Given the description of an element on the screen output the (x, y) to click on. 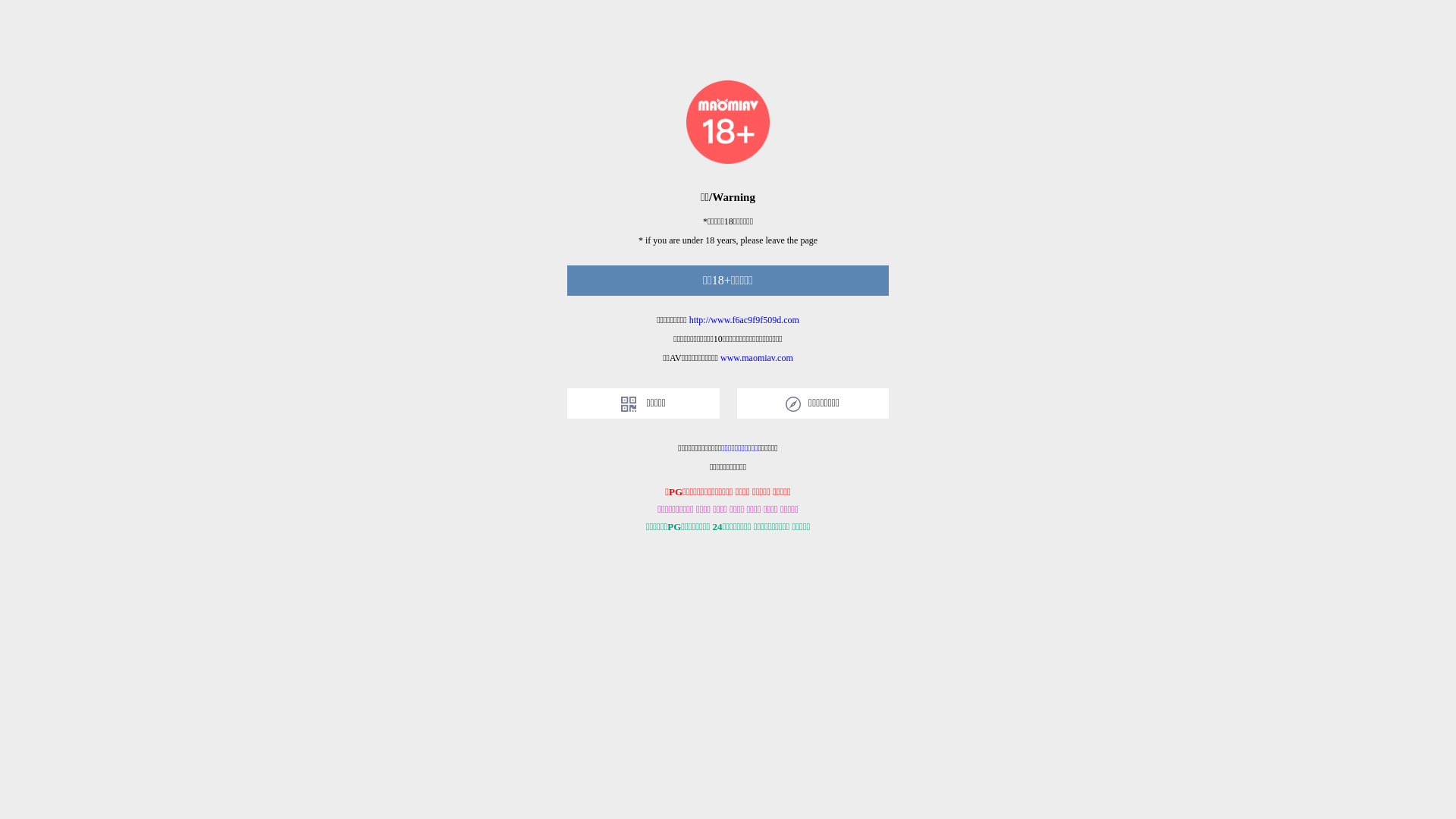
http://www.f6ac9f9f509d.com Element type: text (744, 319)
www.maomiav.com Element type: text (756, 357)
